Given the description of an element on the screen output the (x, y) to click on. 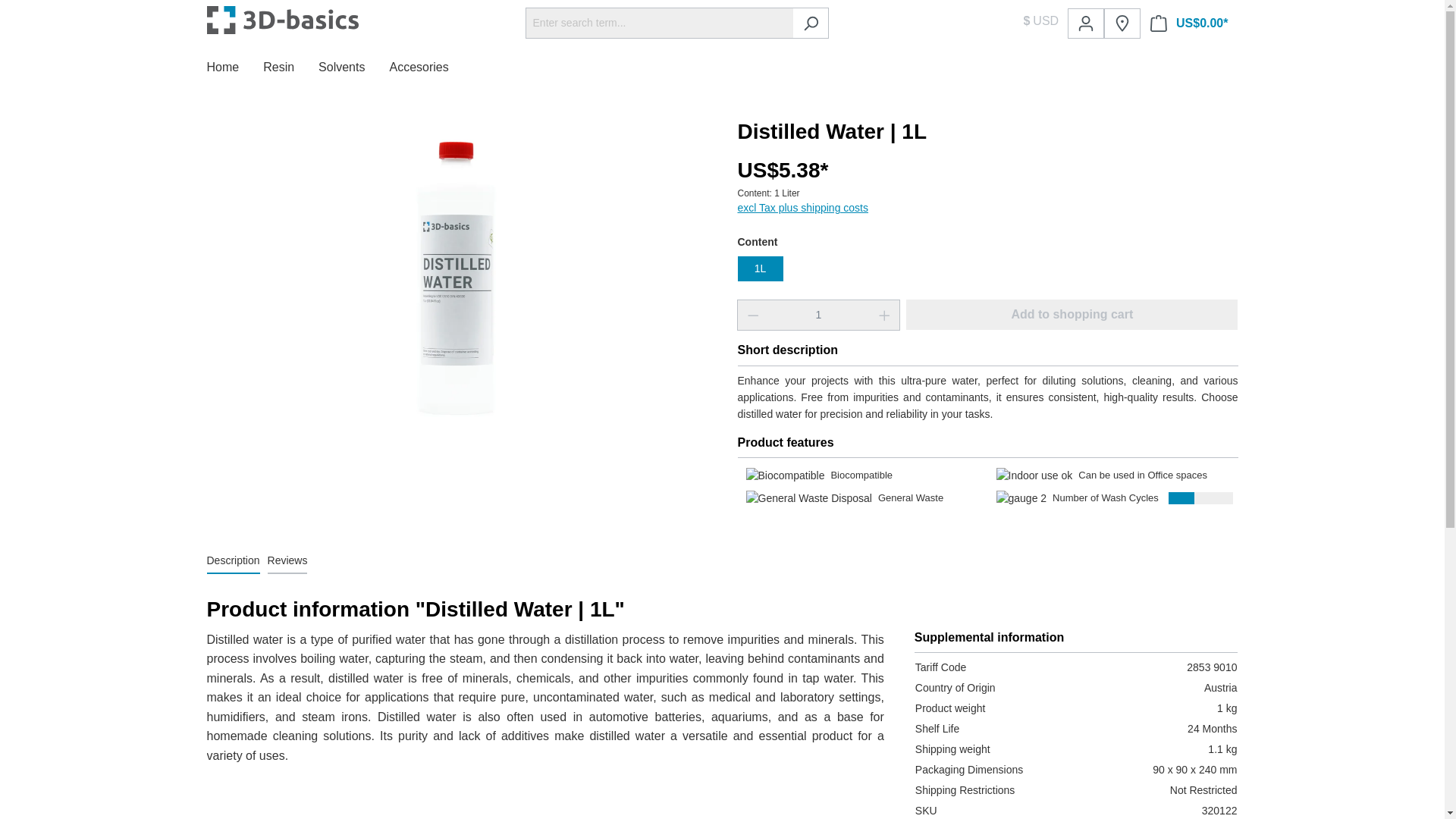
Your account (1085, 23)
Description (232, 561)
Go to homepage (272, 19)
Resin (290, 69)
Shopping cart (1188, 23)
Home (234, 69)
Reviews (287, 561)
Accesories (429, 69)
1 (818, 314)
Accesories (429, 69)
